Given the description of an element on the screen output the (x, y) to click on. 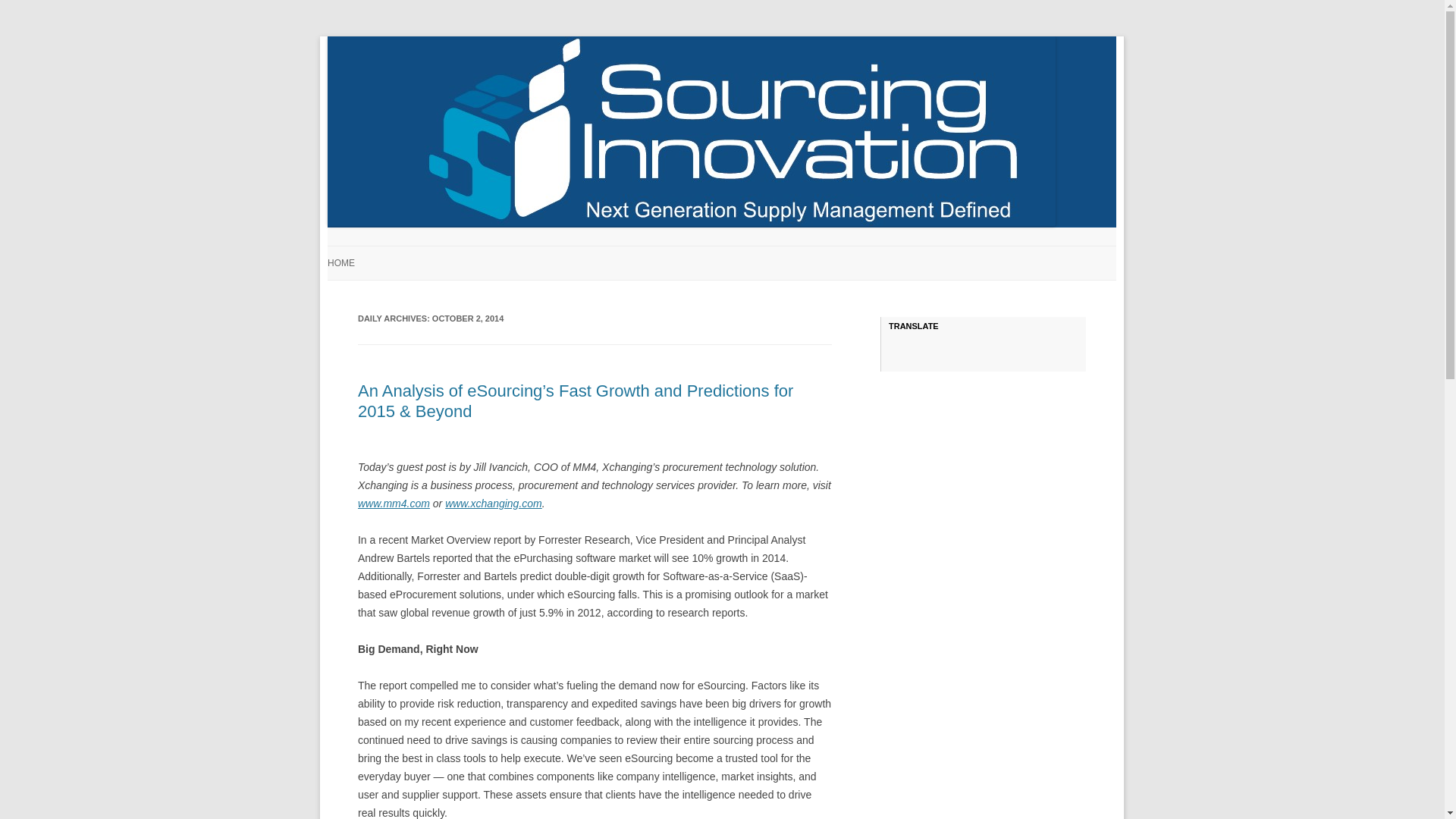
www.xchanging.com (493, 503)
Skip to content (757, 250)
www.mm4.com (393, 503)
Skip to content (757, 250)
